Given the description of an element on the screen output the (x, y) to click on. 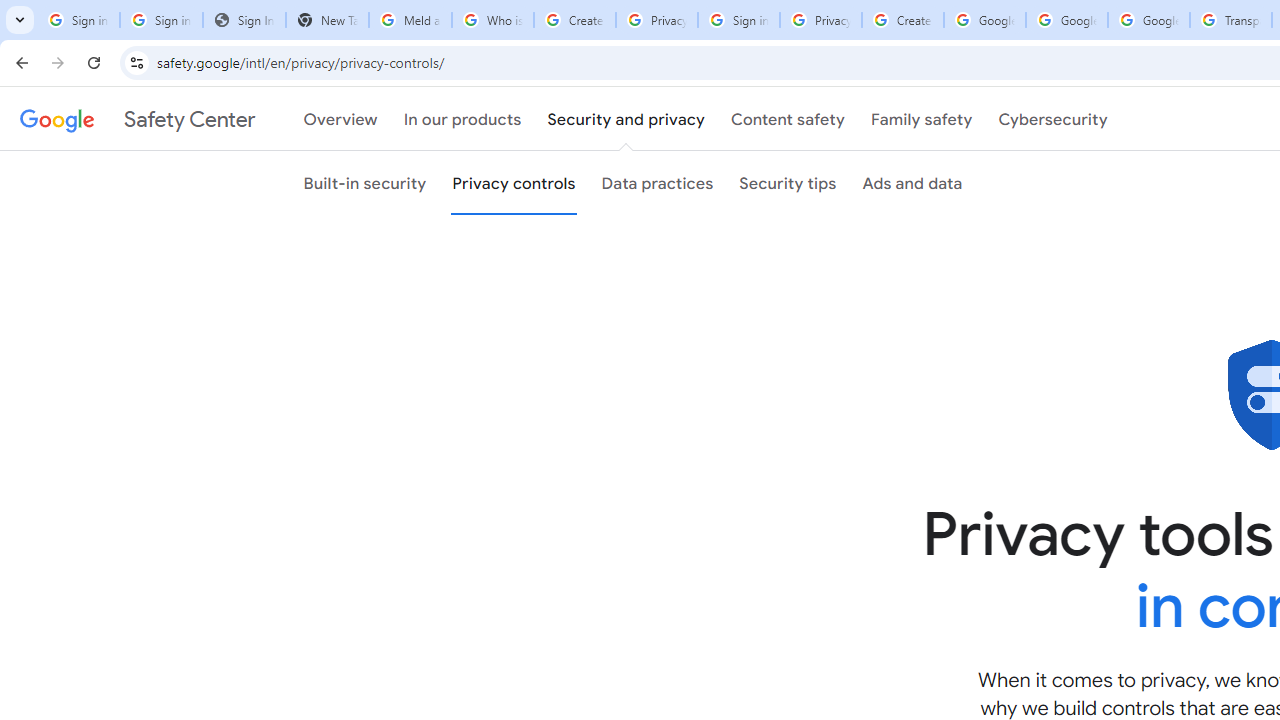
Create your Google Account (902, 20)
Privacy controls (513, 183)
Built-in security (365, 183)
Cybersecurity (1053, 119)
New Tab (326, 20)
Google Account (1149, 20)
Who is my administrator? - Google Account Help (492, 20)
